Given the description of an element on the screen output the (x, y) to click on. 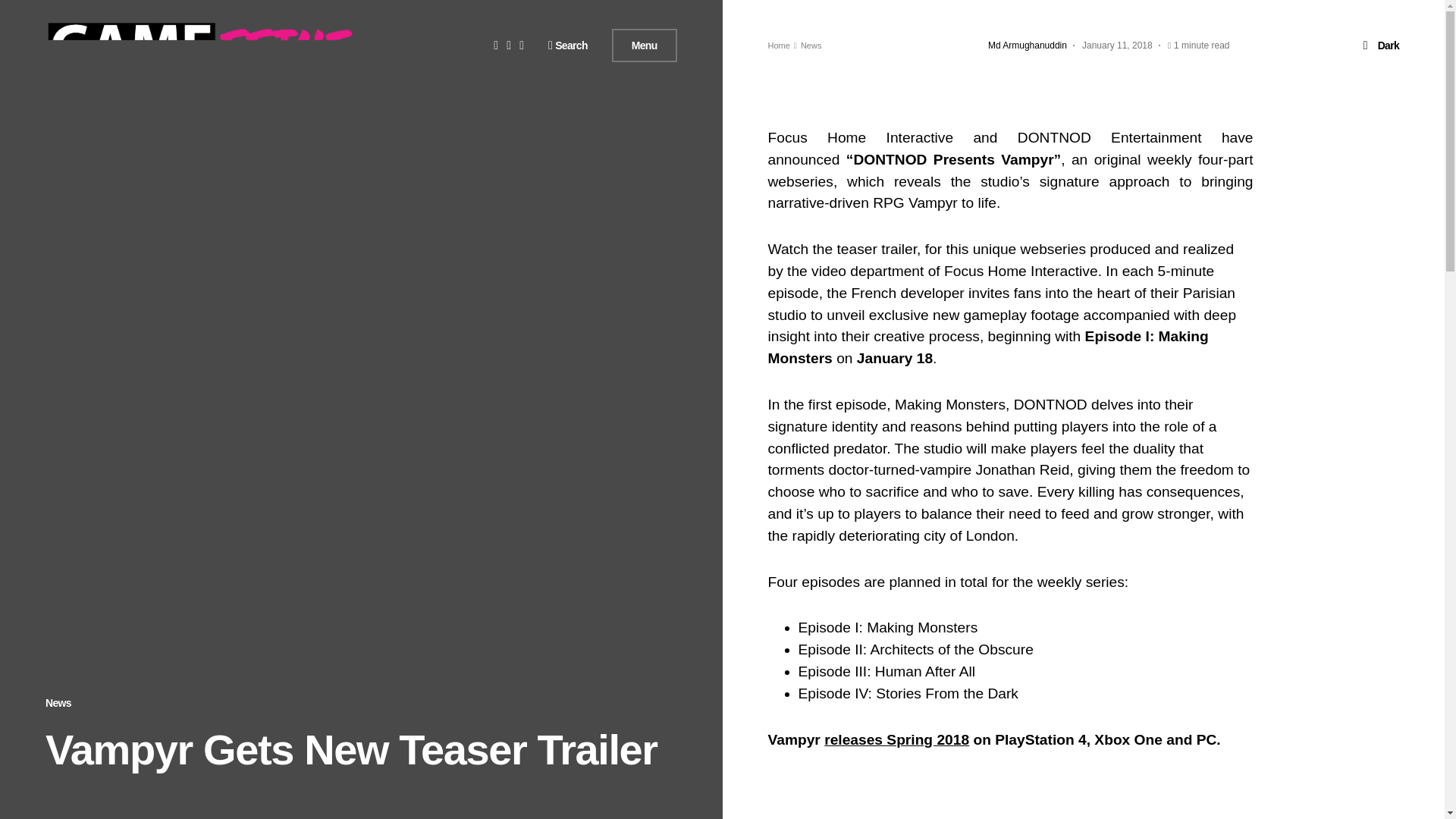
View all posts by Md Armughanuddin (1027, 45)
Home (778, 45)
DONTNOD Presents Vampyr - Webseries Teaser (1009, 796)
News (58, 702)
